Given the description of an element on the screen output the (x, y) to click on. 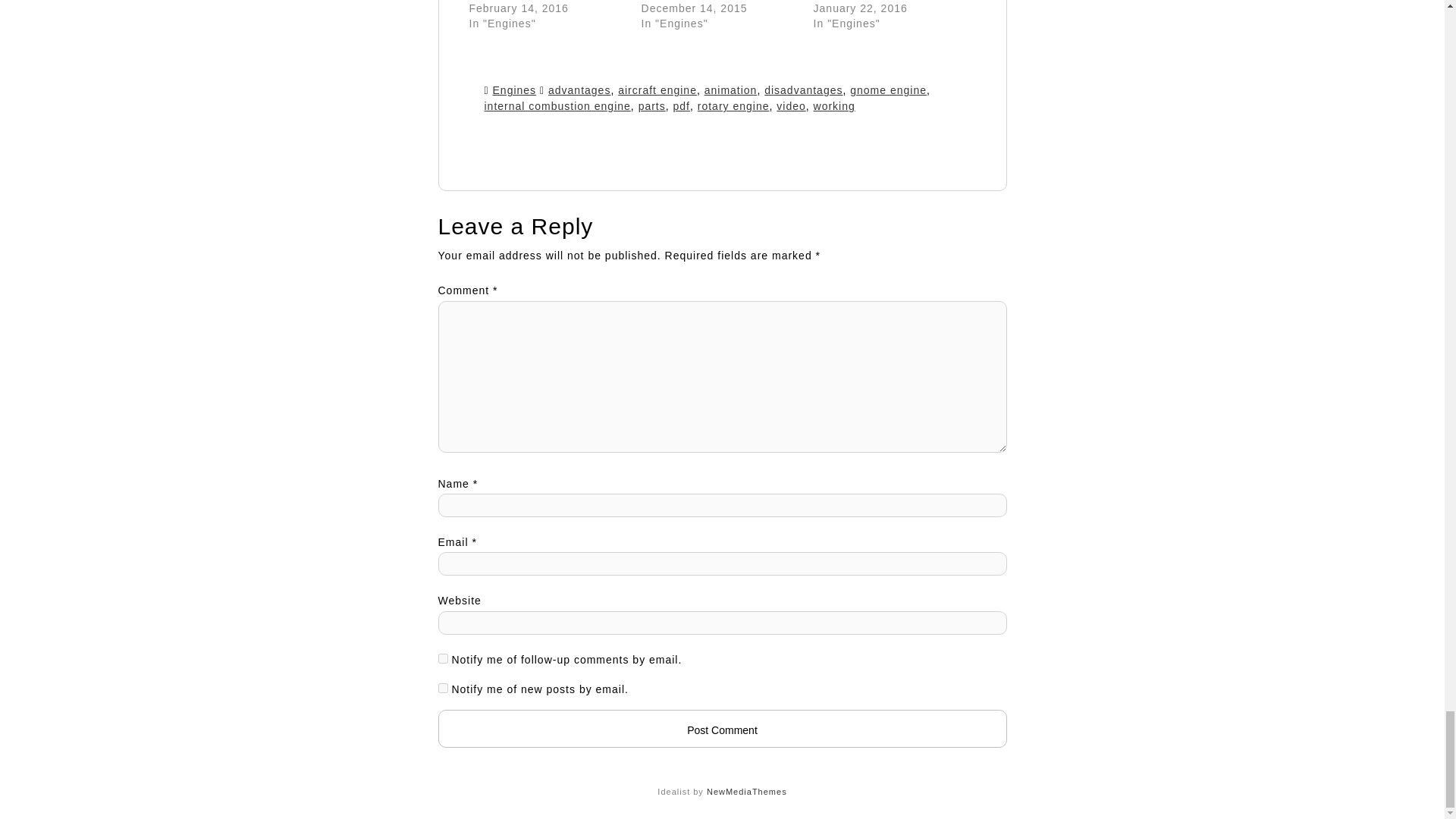
subscribe (443, 687)
Post Comment (722, 728)
subscribe (443, 658)
